Given the description of an element on the screen output the (x, y) to click on. 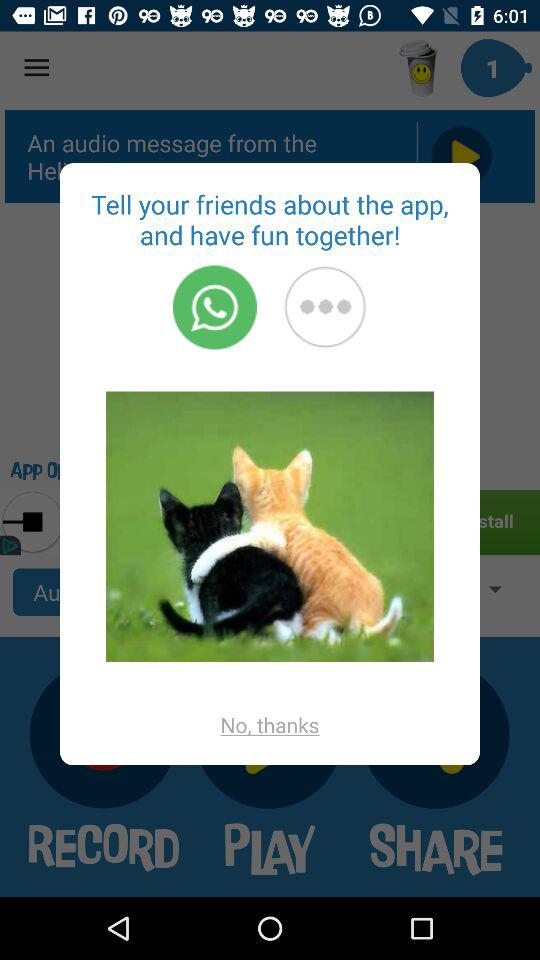
turn on the icon at the bottom (269, 724)
